Given the description of an element on the screen output the (x, y) to click on. 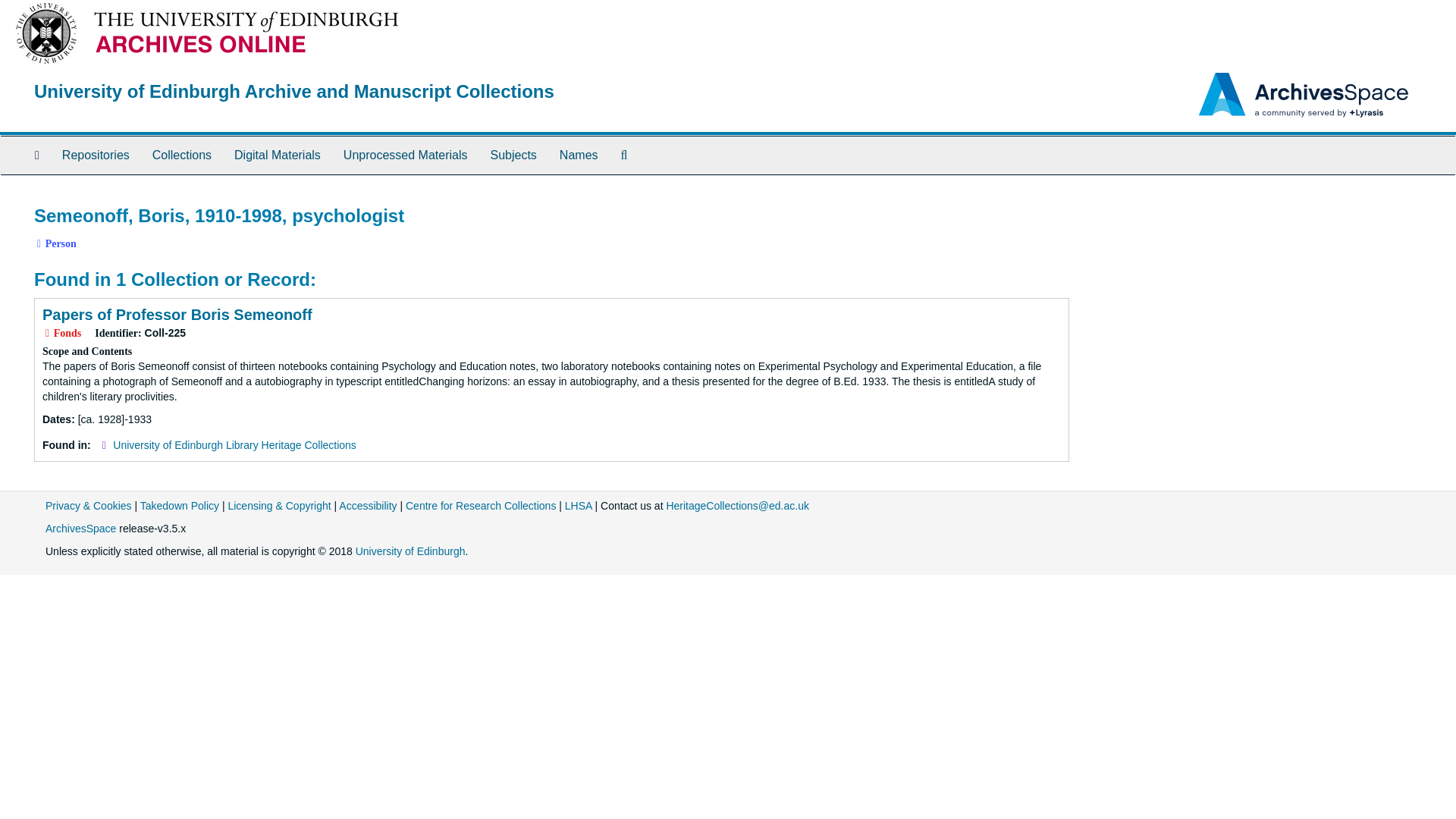
Collections (181, 155)
Website Accessibility Link (367, 505)
Takedown Policy Link (179, 505)
LHSA (578, 505)
Centre for Research Collections (481, 505)
Page Actions (1139, 198)
University of Edinburgh (410, 551)
Subjects (513, 155)
University of Edinburgh Home (410, 551)
Repositories (95, 155)
